Given the description of an element on the screen output the (x, y) to click on. 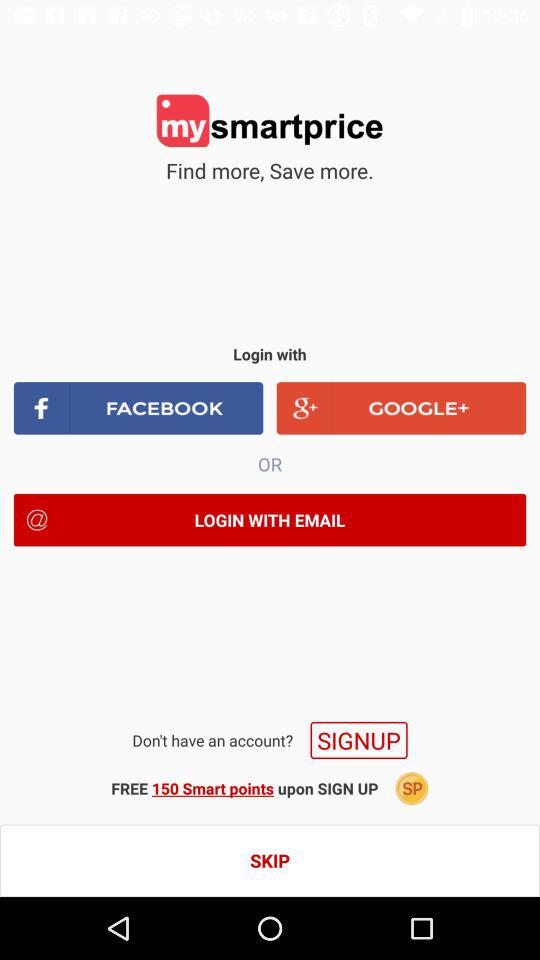
select the icon next to free 150 smart (411, 788)
